Given the description of an element on the screen output the (x, y) to click on. 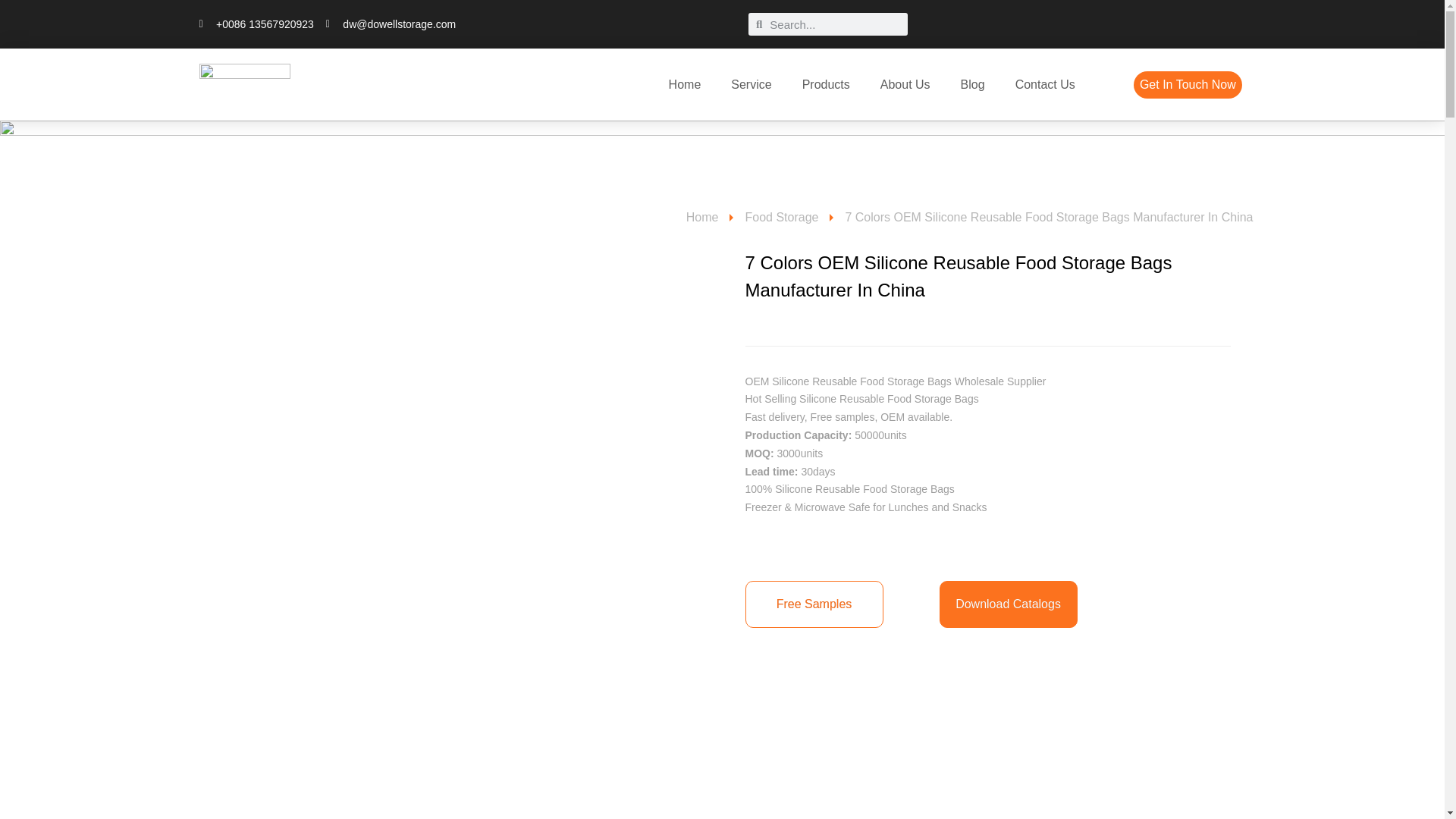
Contact Us (1045, 84)
Blog (972, 84)
Service (750, 84)
Home (685, 84)
Products (825, 84)
About Us (904, 84)
